Given the description of an element on the screen output the (x, y) to click on. 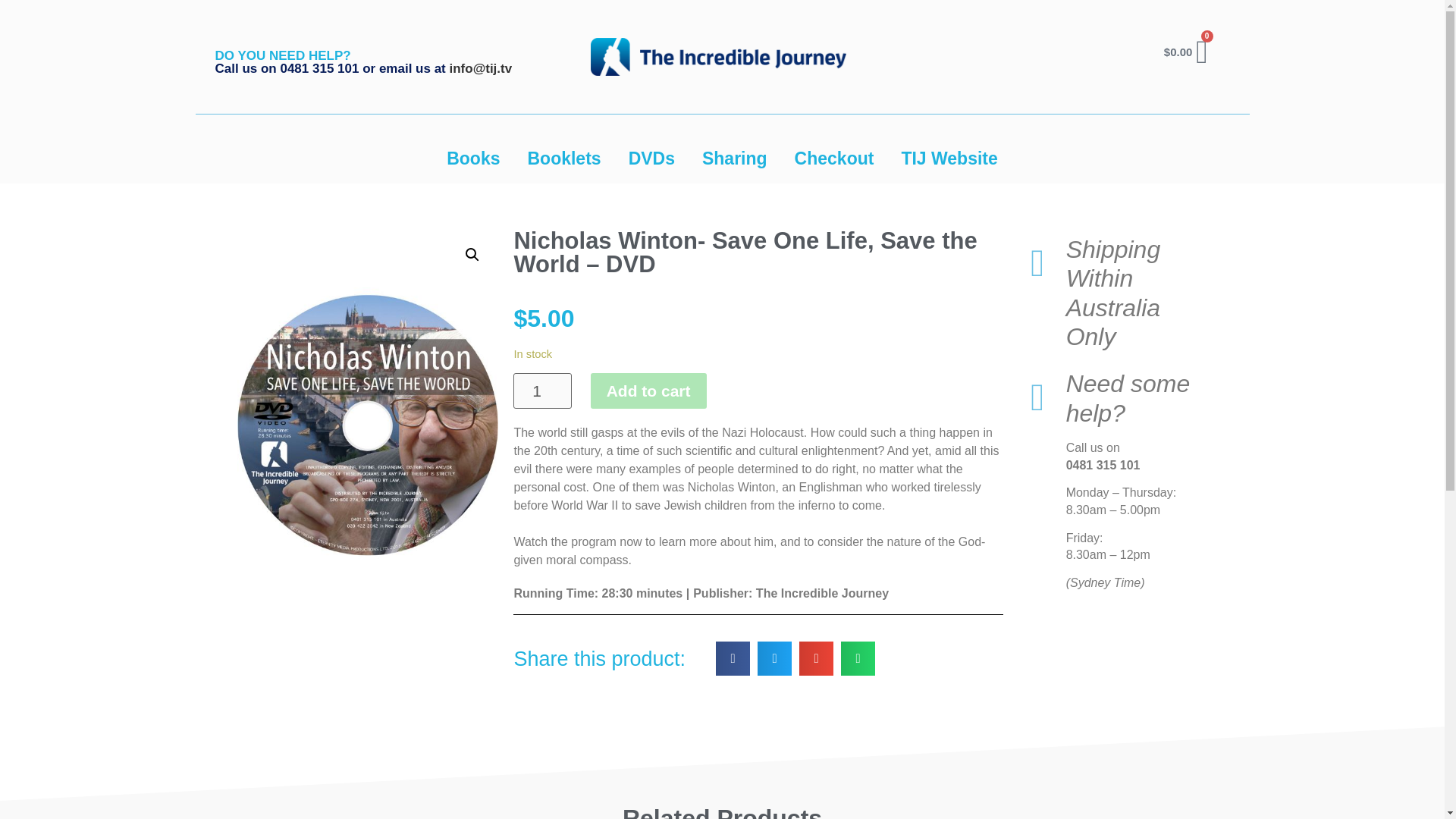
DVDs (651, 158)
Add to cart (648, 390)
Booklets (563, 158)
Books (472, 158)
Checkout (834, 158)
1 (541, 390)
Need some help? (1128, 397)
TIJ Website (948, 158)
Sharing (734, 158)
